Given the description of an element on the screen output the (x, y) to click on. 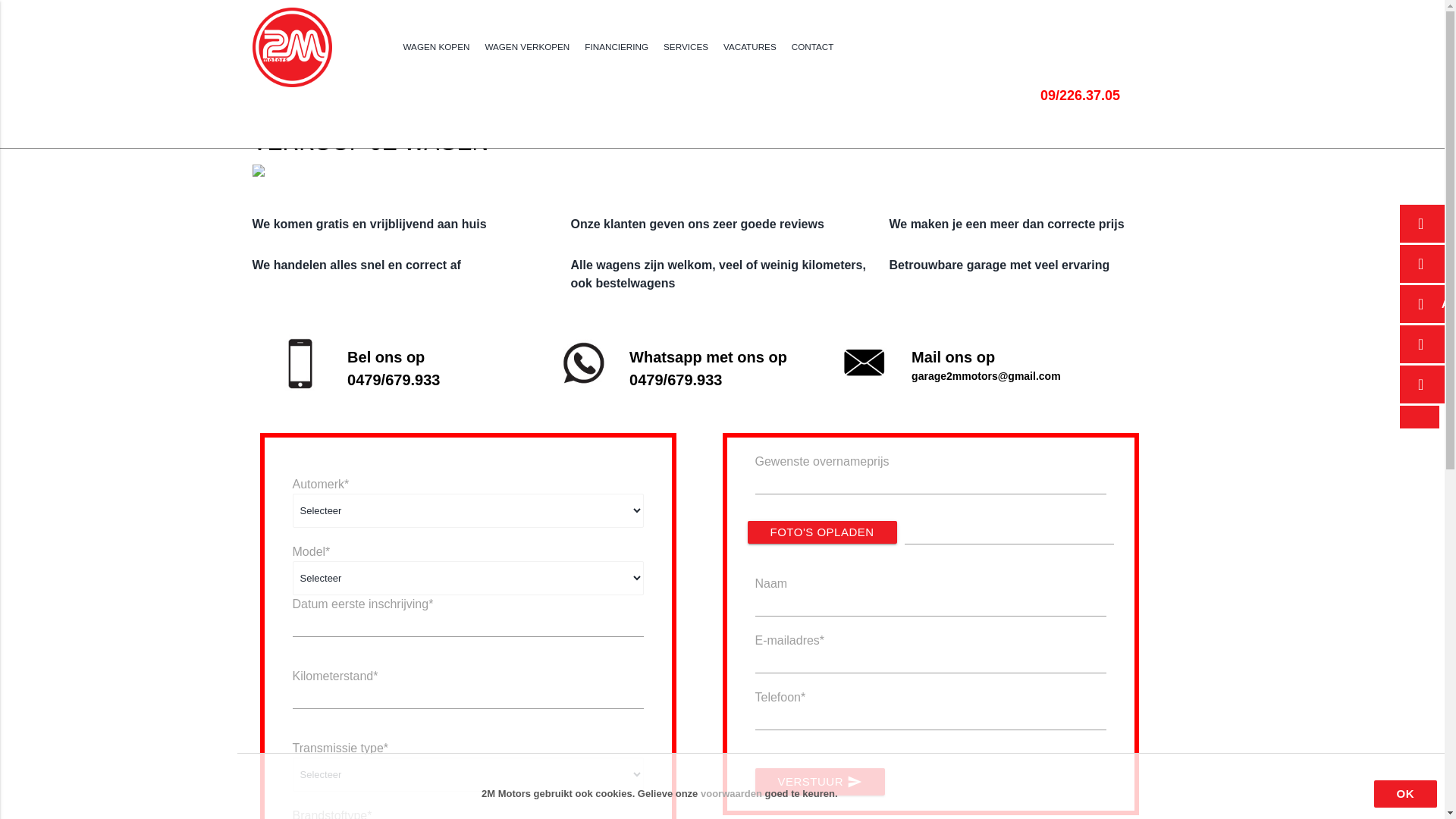
OK Element type: text (1405, 793)
FINANCIERING Element type: text (616, 46)
VACATURES Element type: text (749, 46)
VERSTUUR 
send Element type: text (819, 781)
09/226.37.05 Element type: text (1140, 62)
voorwaarden Element type: text (732, 793)
CONTACT Element type: text (812, 46)
WAGEN VERKOPEN Element type: text (526, 46)
WAGEN KOPEN Element type: text (436, 46)
SERVICES Element type: text (685, 46)
